Given the description of an element on the screen output the (x, y) to click on. 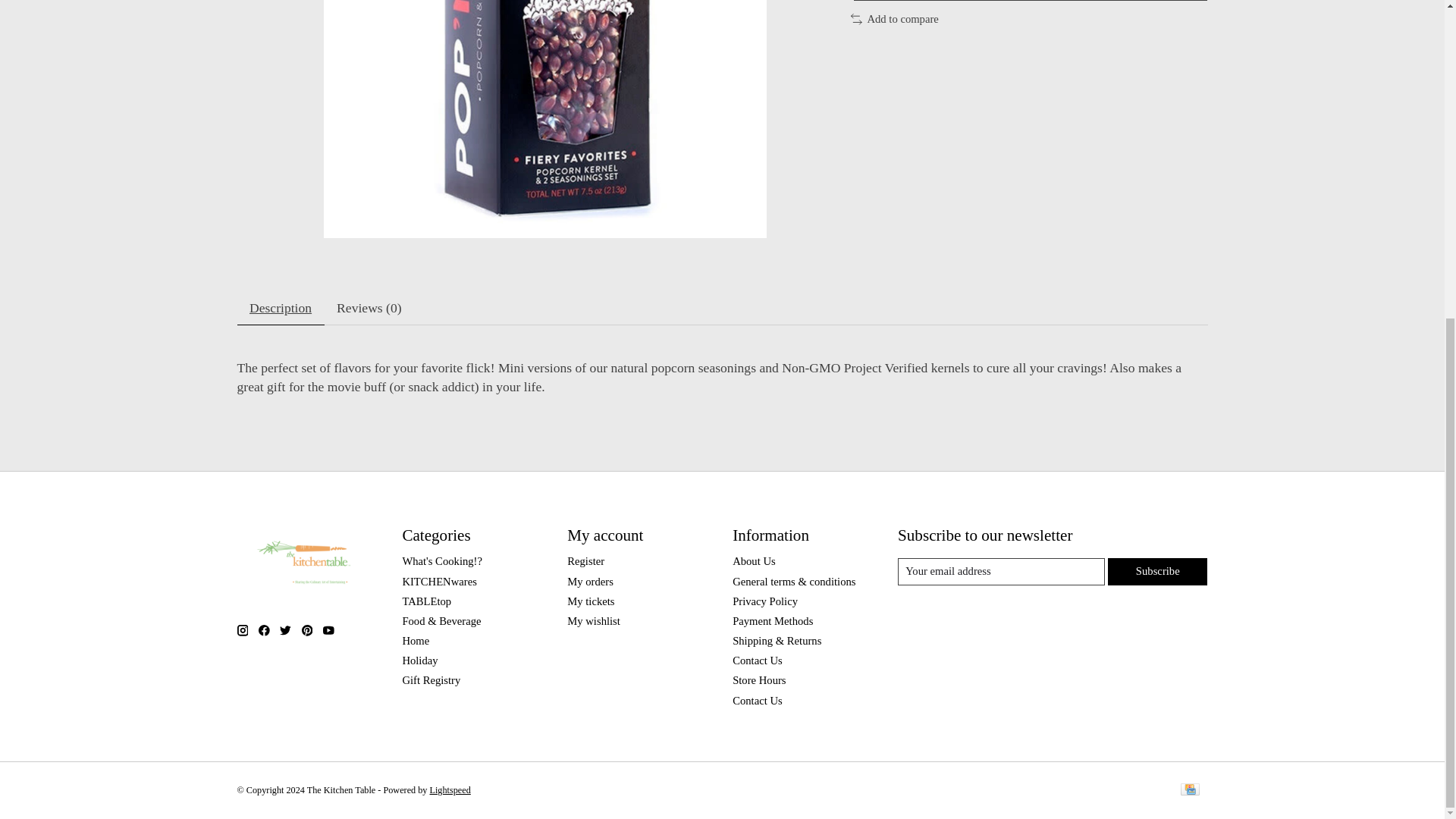
Lightspeed (449, 789)
My wishlist (593, 621)
Register (585, 561)
Contact Us (757, 660)
About Us (754, 561)
Store Hours (759, 680)
My orders (589, 581)
Payment Methods (772, 621)
Credit Card (1188, 790)
My tickets (590, 601)
Privacy Policy (764, 601)
Contact Us (757, 700)
